Given the description of an element on the screen output the (x, y) to click on. 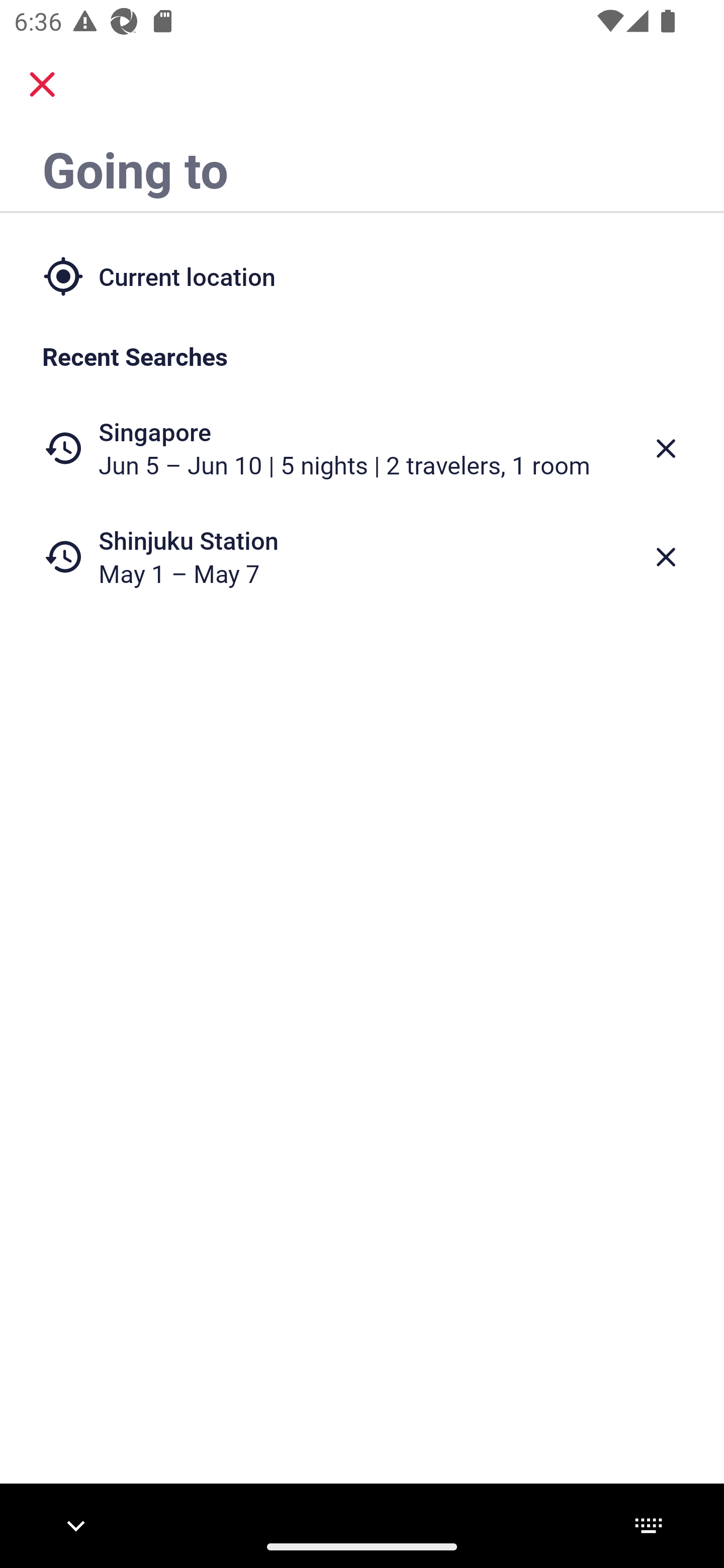
close. (42, 84)
Current location (362, 275)
Delete from recent searches (666, 448)
Shinjuku Station May 1 – May 7 (362, 557)
Delete from recent searches (666, 556)
